Given the description of an element on the screen output the (x, y) to click on. 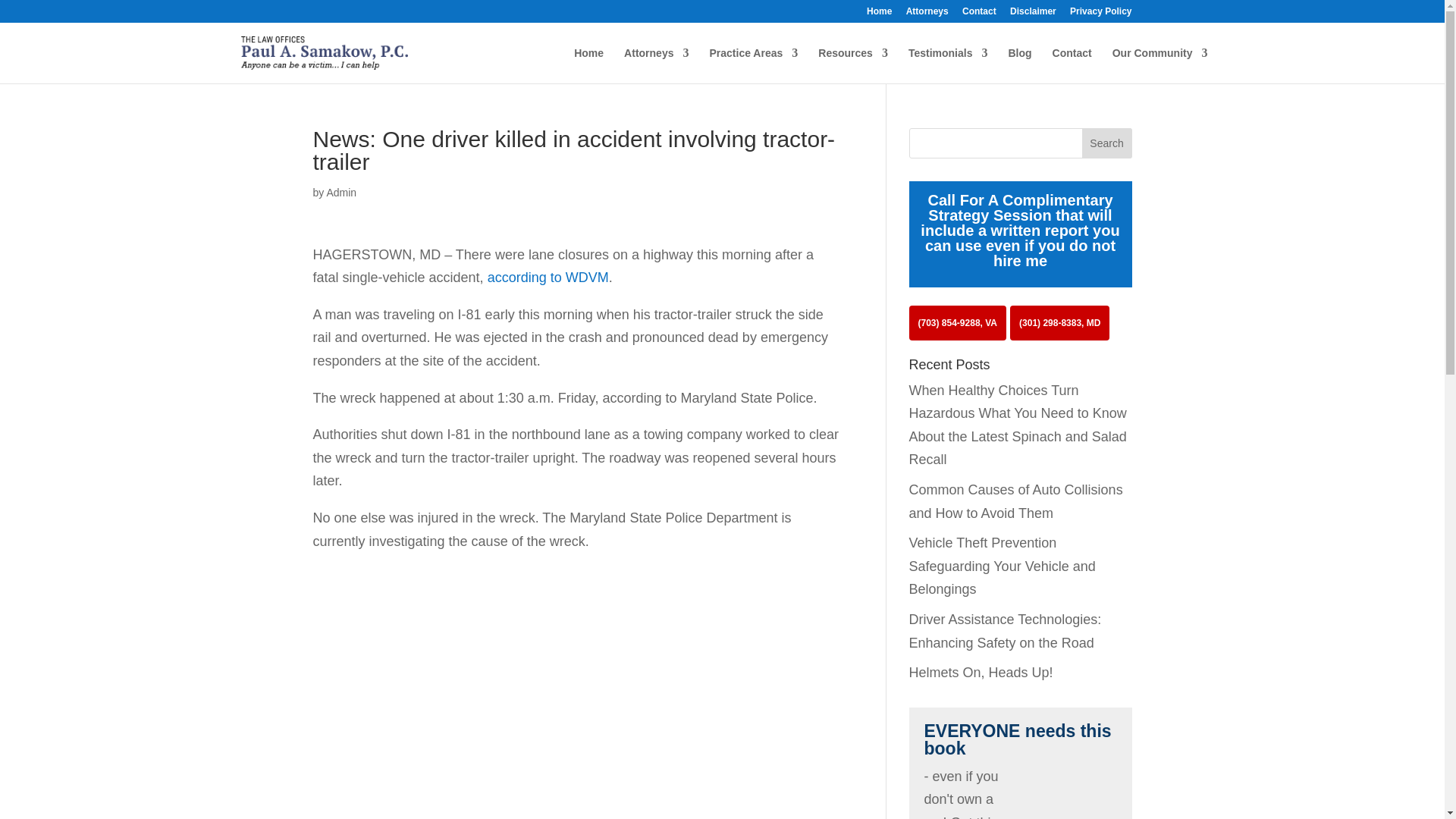
Attorneys (656, 65)
Attorneys (927, 14)
Home (878, 14)
Resources (853, 65)
Practice Areas (753, 65)
Disclaimer (1033, 14)
Testimonials (948, 65)
Search (1106, 142)
Contact (978, 14)
Privacy Policy (1100, 14)
Posts by Admin (341, 192)
